Given the description of an element on the screen output the (x, y) to click on. 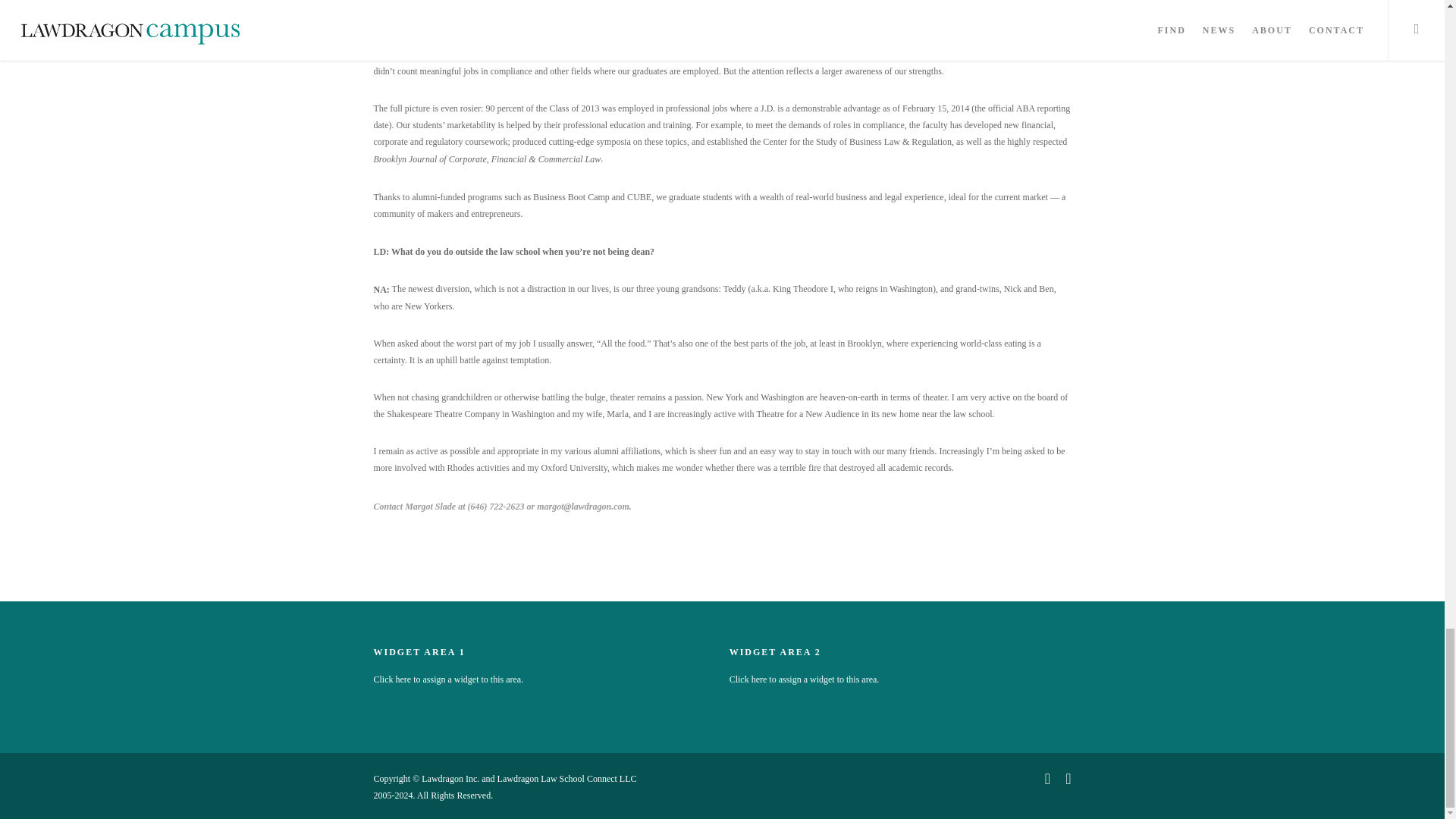
Click here to assign a widget to this area. (804, 679)
Click here to assign a widget to this area. (447, 679)
